Given the description of an element on the screen output the (x, y) to click on. 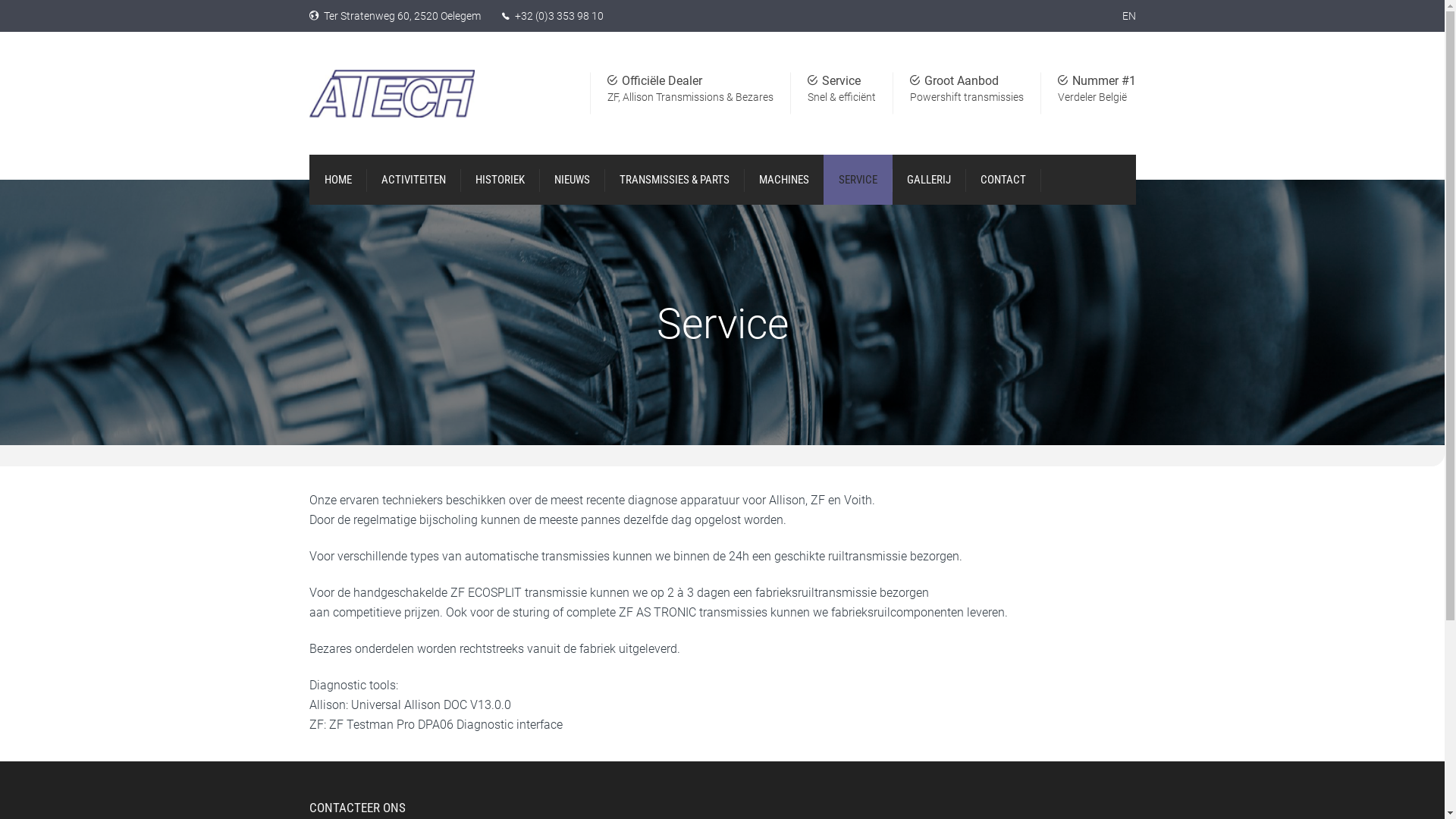
TRANSMISSIES & PARTS Element type: text (673, 179)
SERVICE Element type: text (857, 179)
MACHINES Element type: text (783, 179)
EN Element type: text (1128, 15)
HISTORIEK Element type: text (499, 179)
NIEUWS Element type: text (571, 179)
HOME Element type: text (338, 179)
Mira Systems Element type: text (377, 798)
GALLERIJ Element type: text (928, 179)
ACTIVITEITEN Element type: text (412, 179)
CONTACT Element type: text (1002, 179)
